Given the description of an element on the screen output the (x, y) to click on. 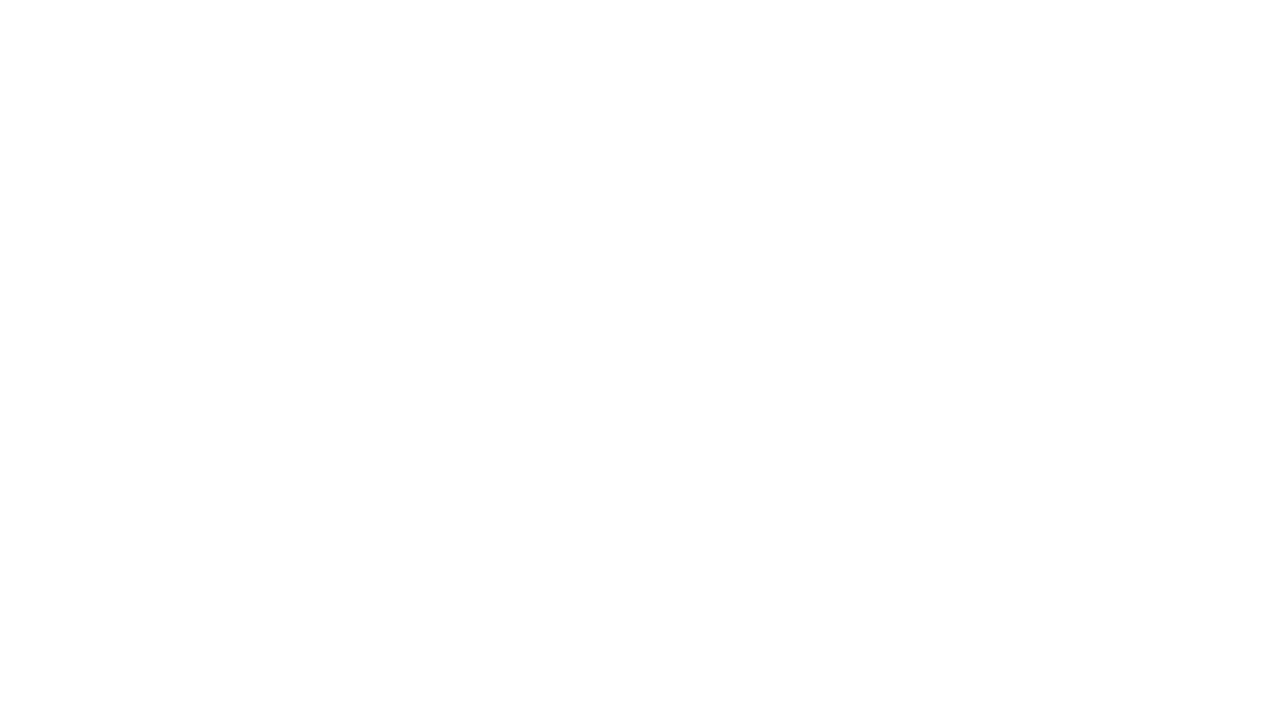
Split screen (1083, 52)
The most popular Google 'how to' searches (609, 17)
Copilot (Ctrl+Shift+.) (1258, 52)
Restore (1210, 16)
Close tab (390, 16)
Nordace - My Account (534, 17)
Day 1: Arriving in Yemen (surreal to be here) - YouTube (276, 17)
Collections (1128, 52)
I Gained 20 Pounds of Muscle in 30 Days! | Watch (1009, 17)
New Tab (1085, 17)
Browser essentials (1171, 52)
Gloom - YouTube (423, 17)
